Given the description of an element on the screen output the (x, y) to click on. 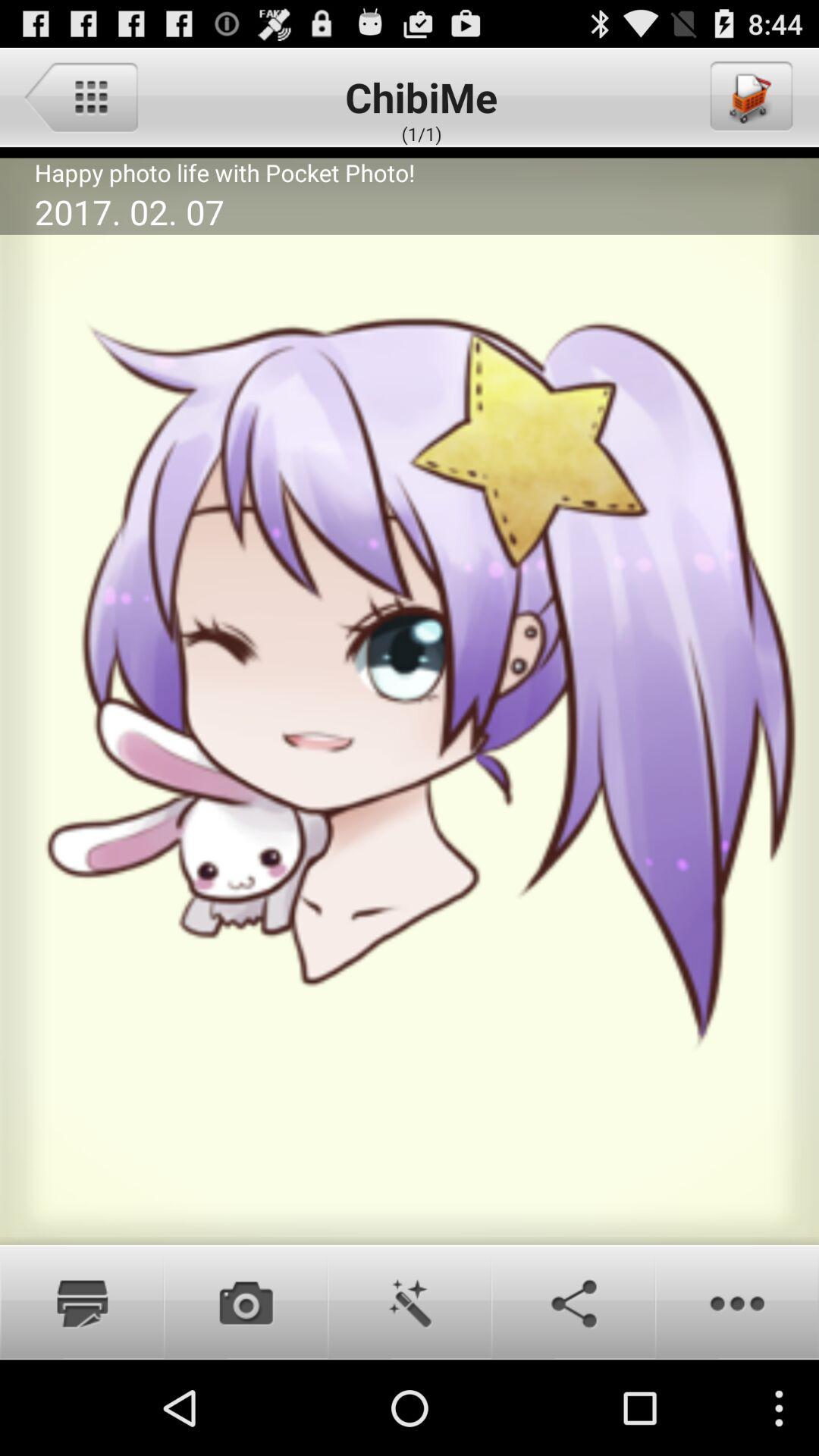
main menu (80, 96)
